Given the description of an element on the screen output the (x, y) to click on. 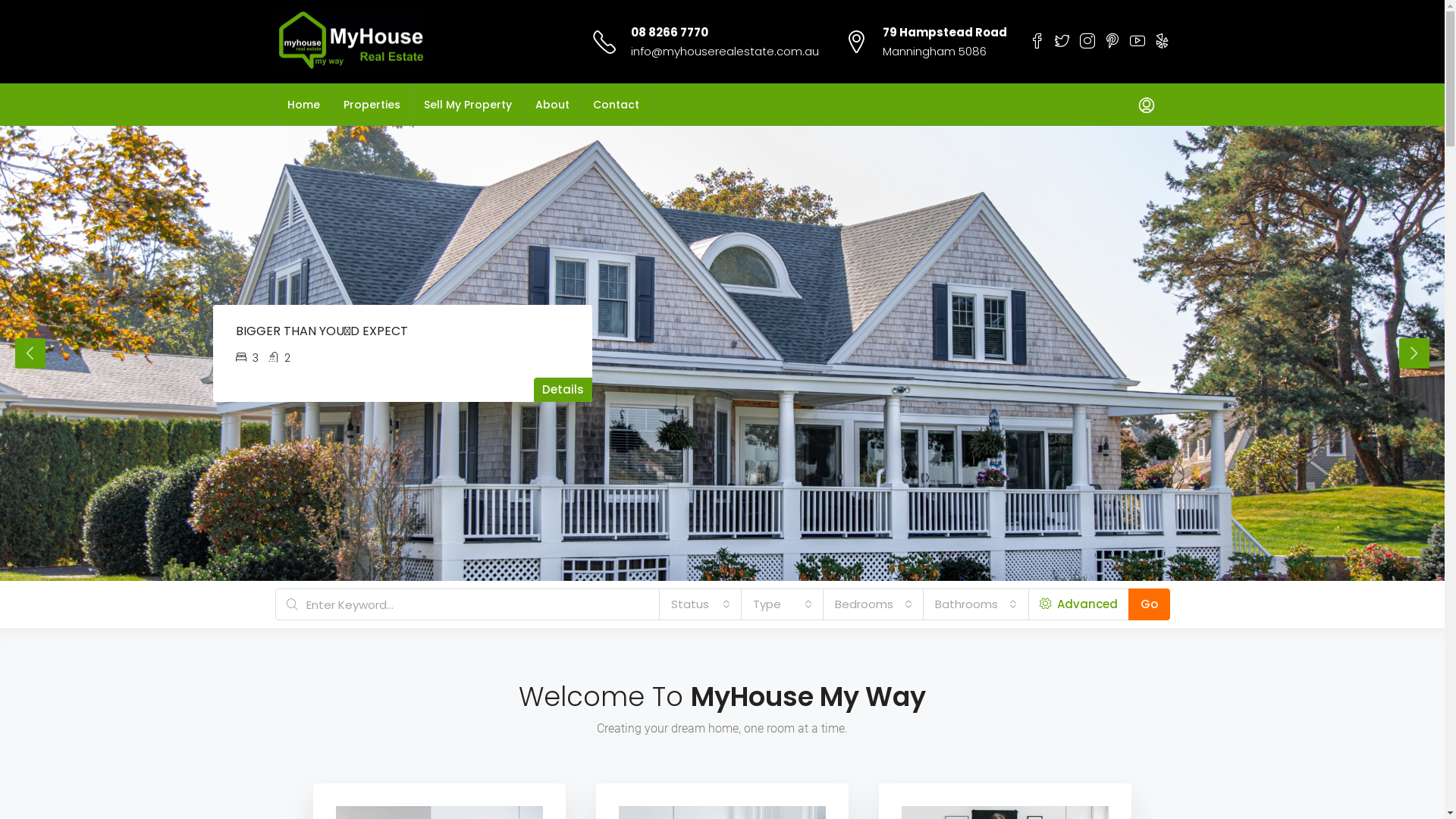
Bedrooms Element type: text (872, 604)
Home Element type: text (303, 104)
info@myhouserealestate.com.au Element type: text (724, 51)
About Element type: text (551, 104)
Contact Element type: text (614, 104)
Details Element type: text (562, 389)
Go Element type: text (1149, 604)
Status Element type: text (699, 604)
Properties Element type: text (371, 104)
Sell My Property Element type: text (467, 104)
Bathrooms Element type: text (975, 604)
Type Element type: text (781, 604)
Advanced Element type: text (1077, 604)
Next Element type: text (1414, 353)
08 8266 7770 Element type: text (669, 32)
Previous Element type: text (30, 353)
